Given the description of an element on the screen output the (x, y) to click on. 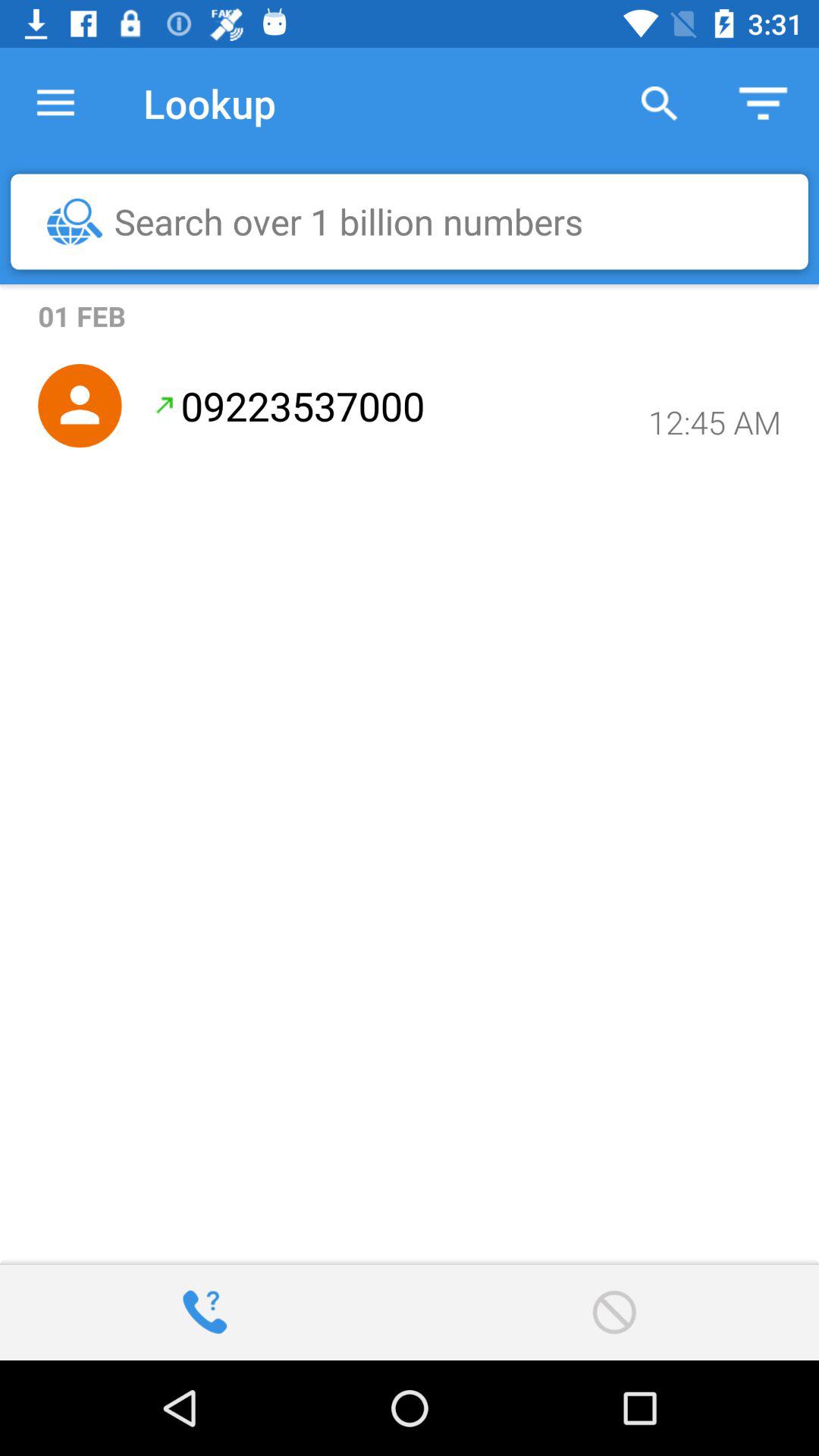
open the icon to the left of the search over 1 icon (74, 221)
